Given the description of an element on the screen output the (x, y) to click on. 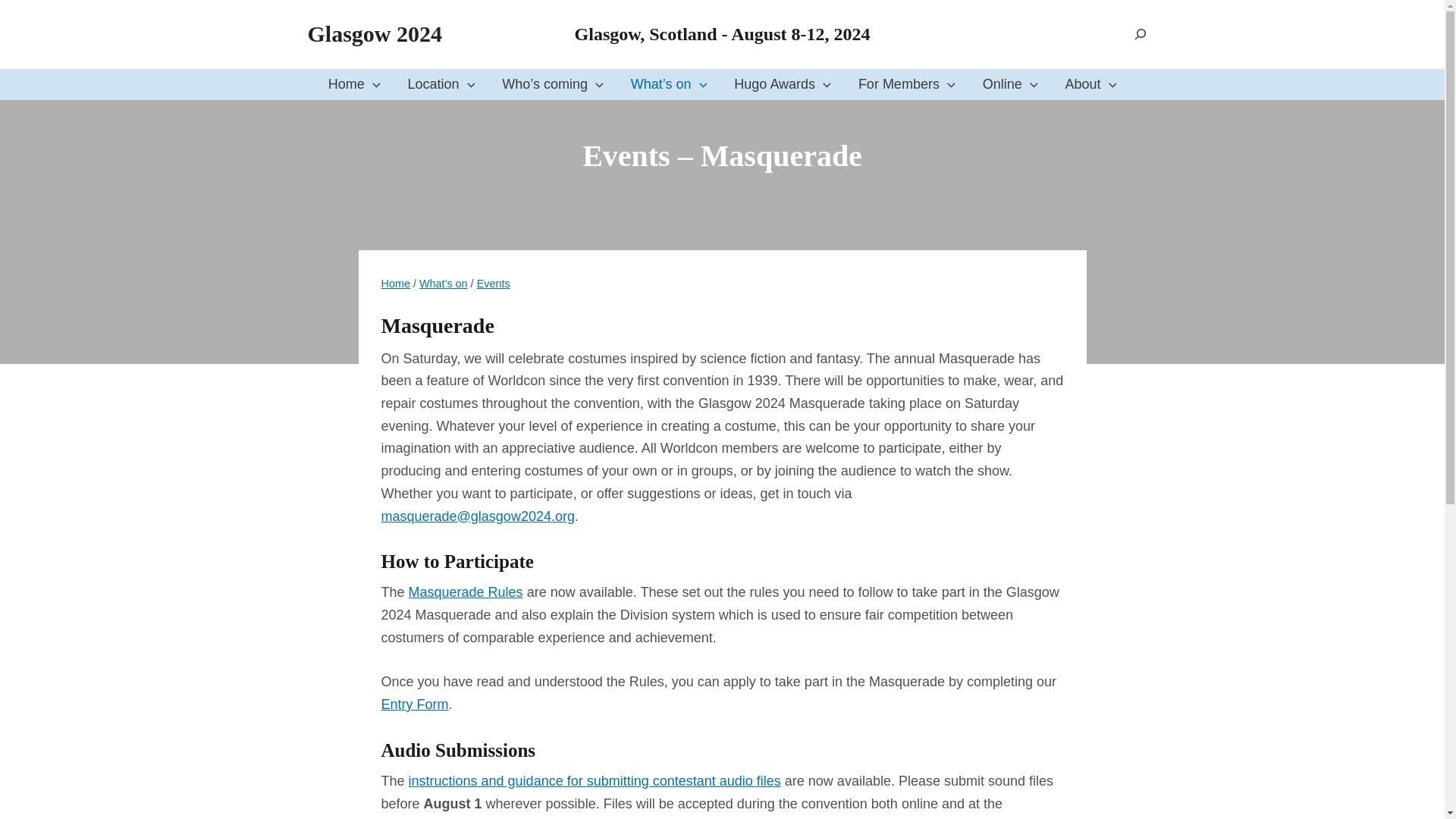
Home (354, 83)
Location (440, 83)
Glasgow 2024 (374, 33)
